Given the description of an element on the screen output the (x, y) to click on. 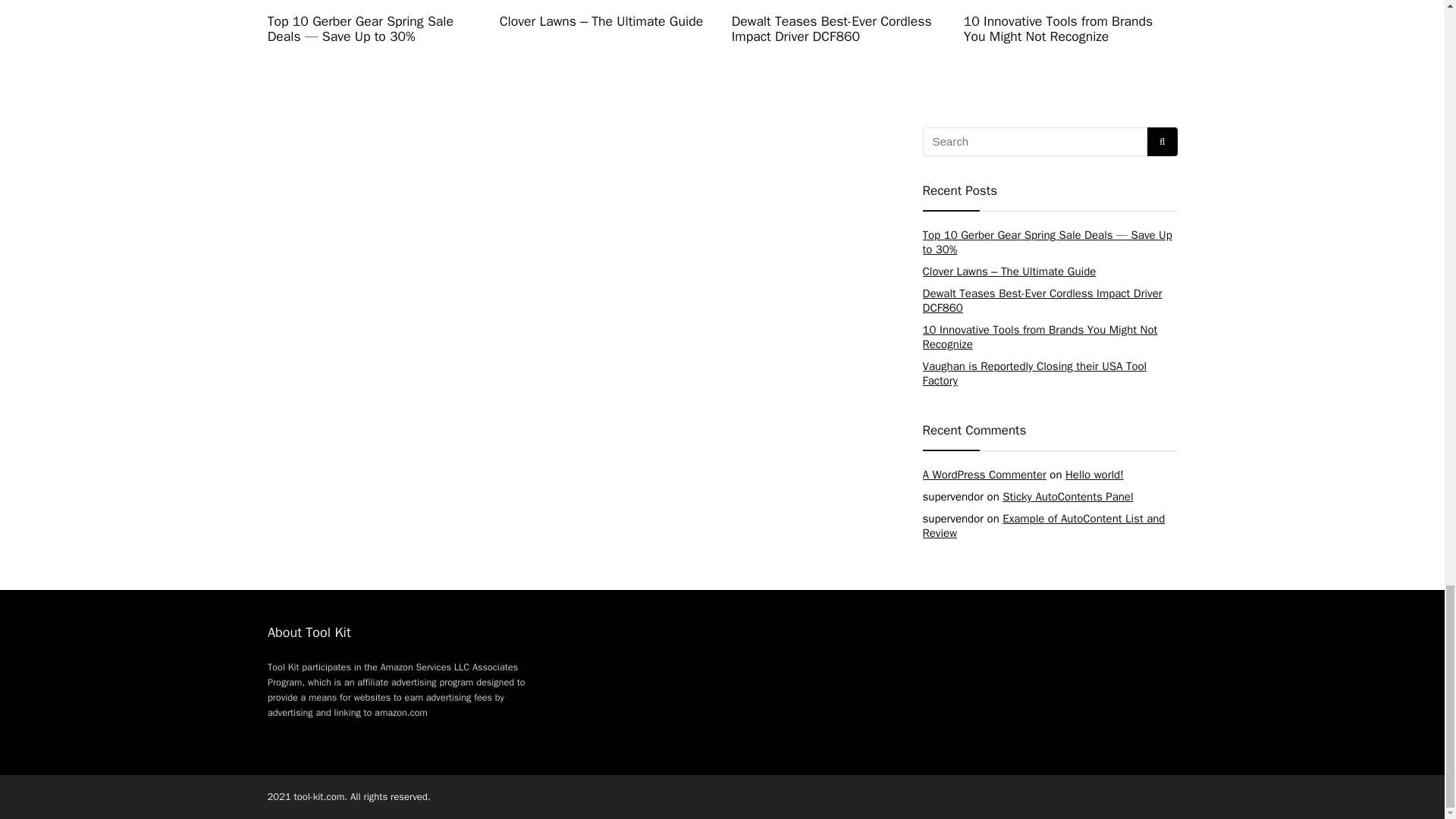
10 Innovative Tools from Brands You Might Not Recognize (1039, 336)
10 Innovative Tools from Brands You Might Not Recognize (1058, 29)
Dewalt Teases Best-Ever Cordless Impact Driver DCF860 (1041, 300)
Dewalt Teases Best-Ever Cordless Impact Driver DCF860 (831, 29)
Vaughan is Reportedly Closing their USA Tool Factory (1034, 373)
